Given the description of an element on the screen output the (x, y) to click on. 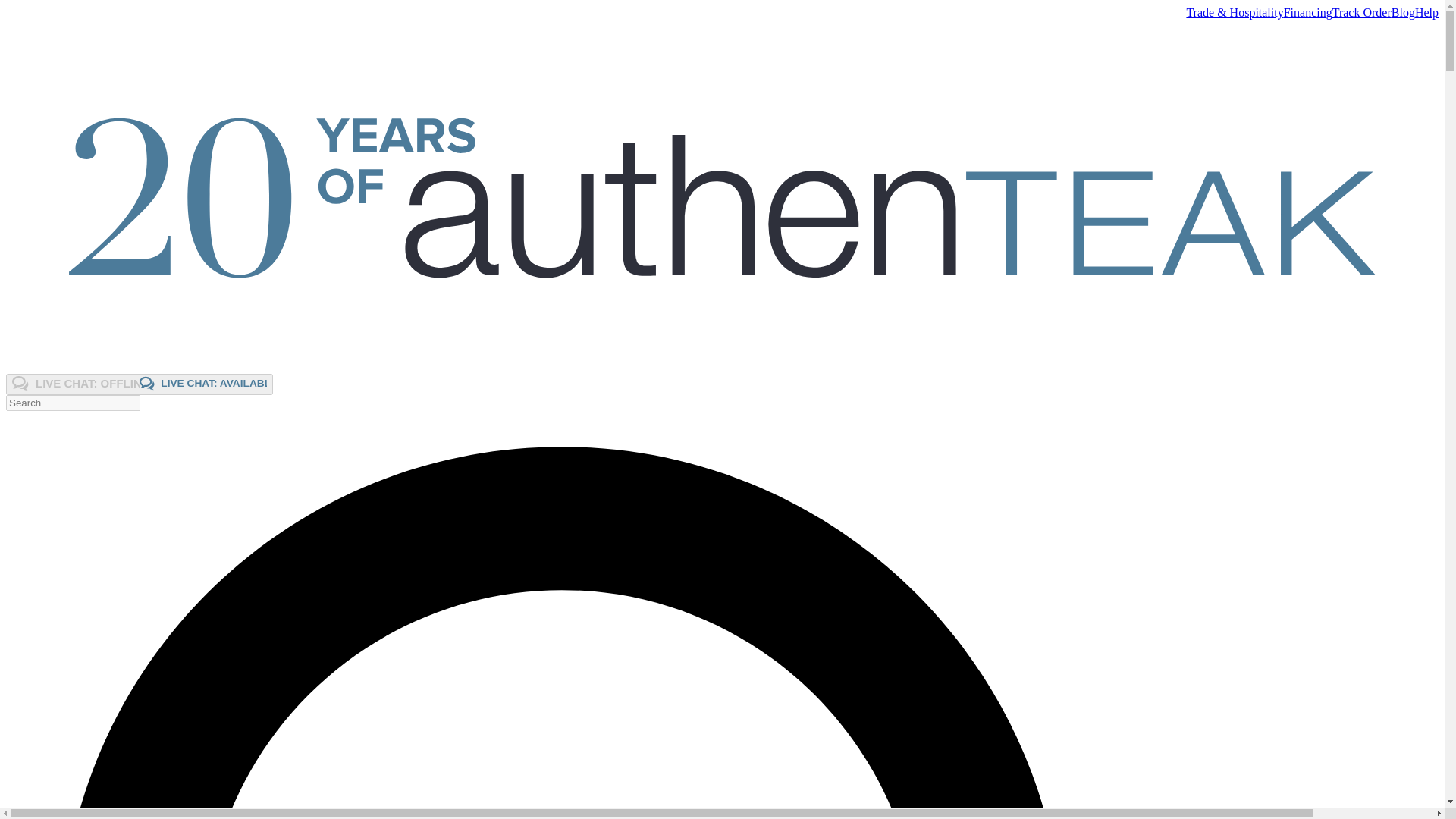
LIVE CHAT: OFFLINE (75, 382)
Help (1426, 11)
Blog (1403, 11)
Go to Track Order page (1361, 11)
Financing (1308, 11)
Go to Blog page (1403, 11)
Go to Help page (1426, 11)
LIVE CHAT: AVAILABLE (202, 382)
Chat with us today! (139, 383)
Go to Financing page (1308, 11)
Track Order (1361, 11)
